Given the description of an element on the screen output the (x, y) to click on. 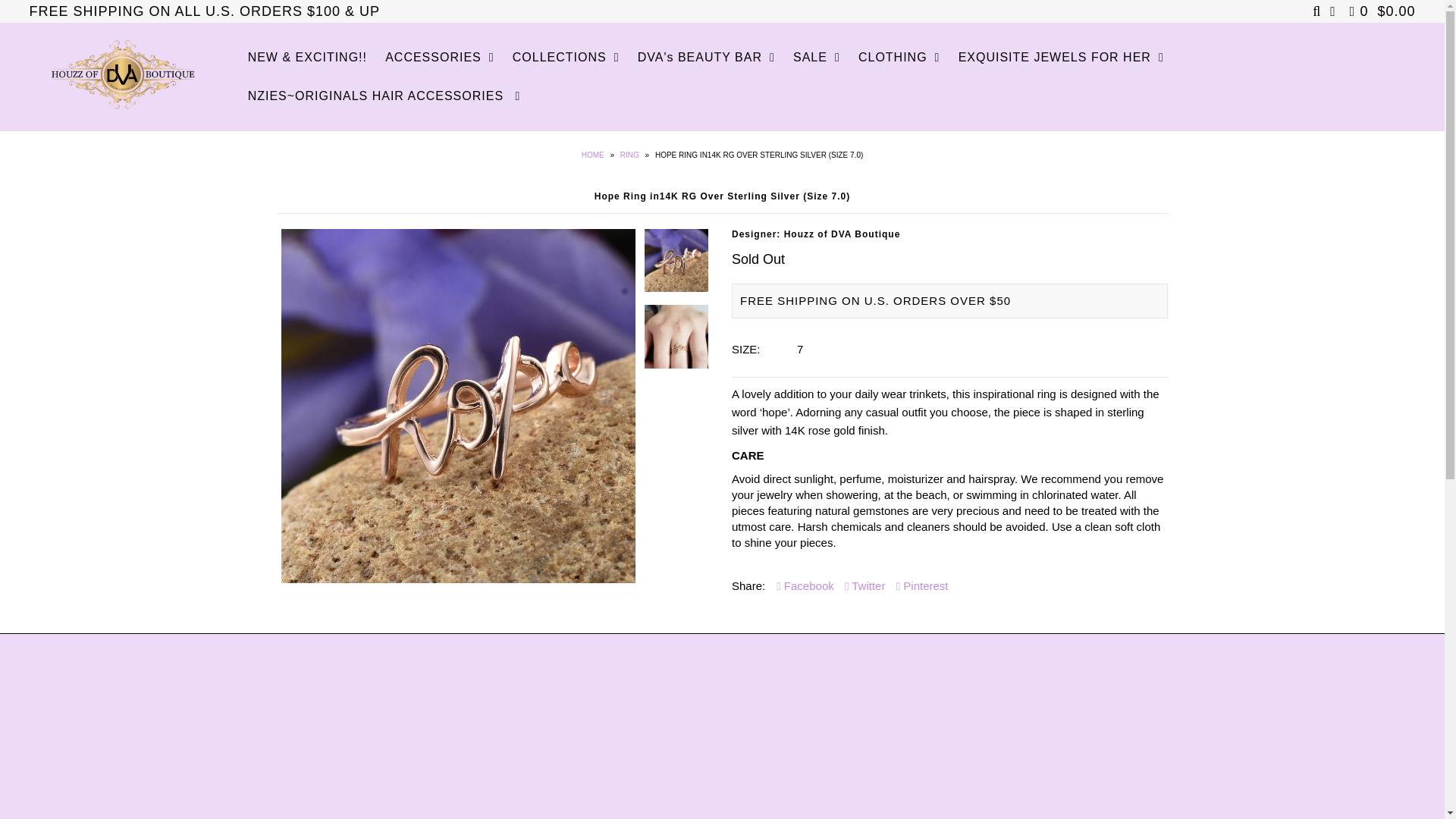
DVA's BEAUTY BAR (706, 56)
COLLECTIONS (566, 56)
ACCESSORIES (438, 56)
